Given the description of an element on the screen output the (x, y) to click on. 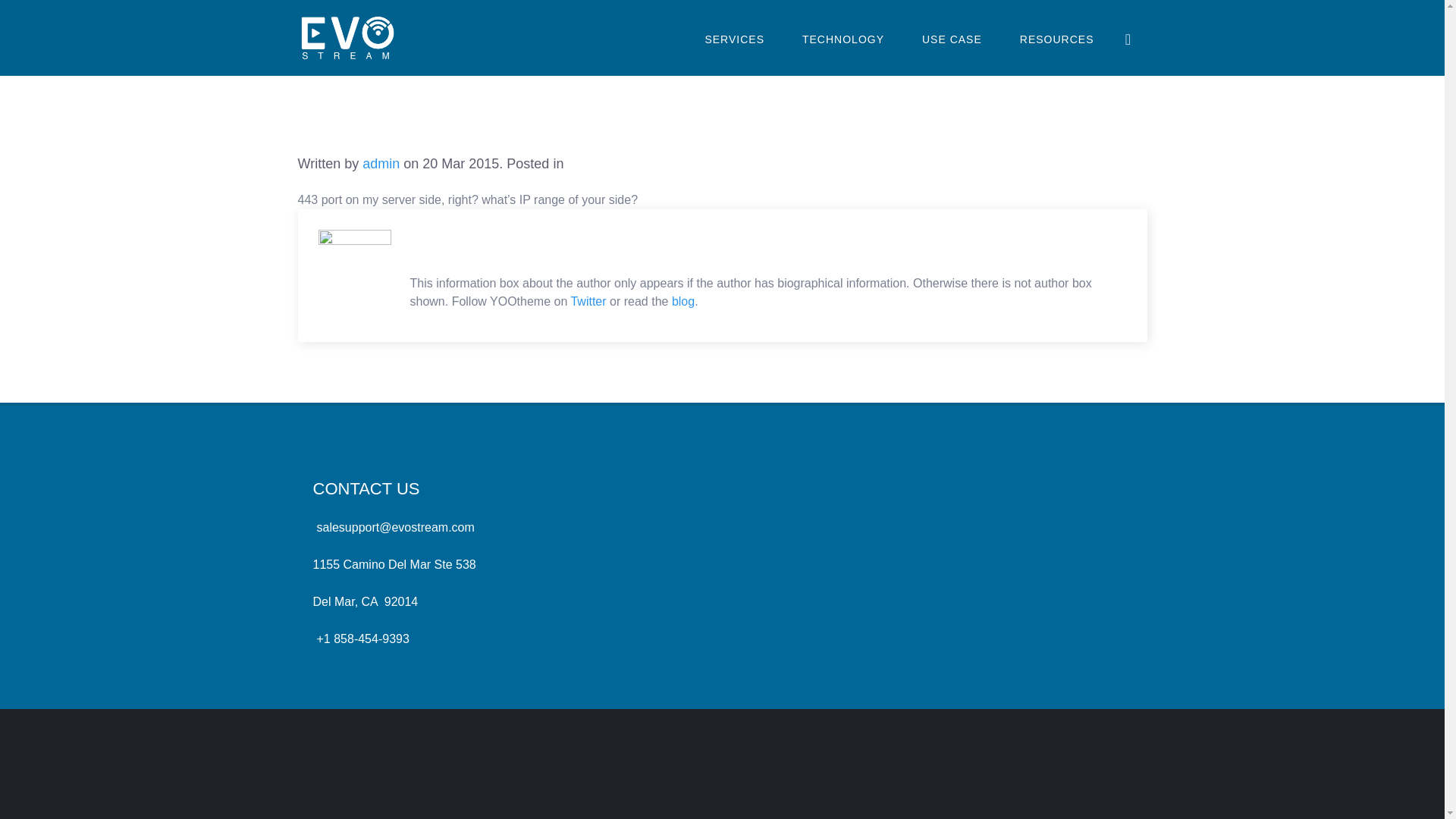
blog (682, 300)
admin (380, 163)
RESOURCES (1057, 38)
USE CASE (951, 38)
admin (380, 163)
SERVICES (734, 38)
Twitter (587, 300)
TECHNOLOGY (842, 38)
